Given the description of an element on the screen output the (x, y) to click on. 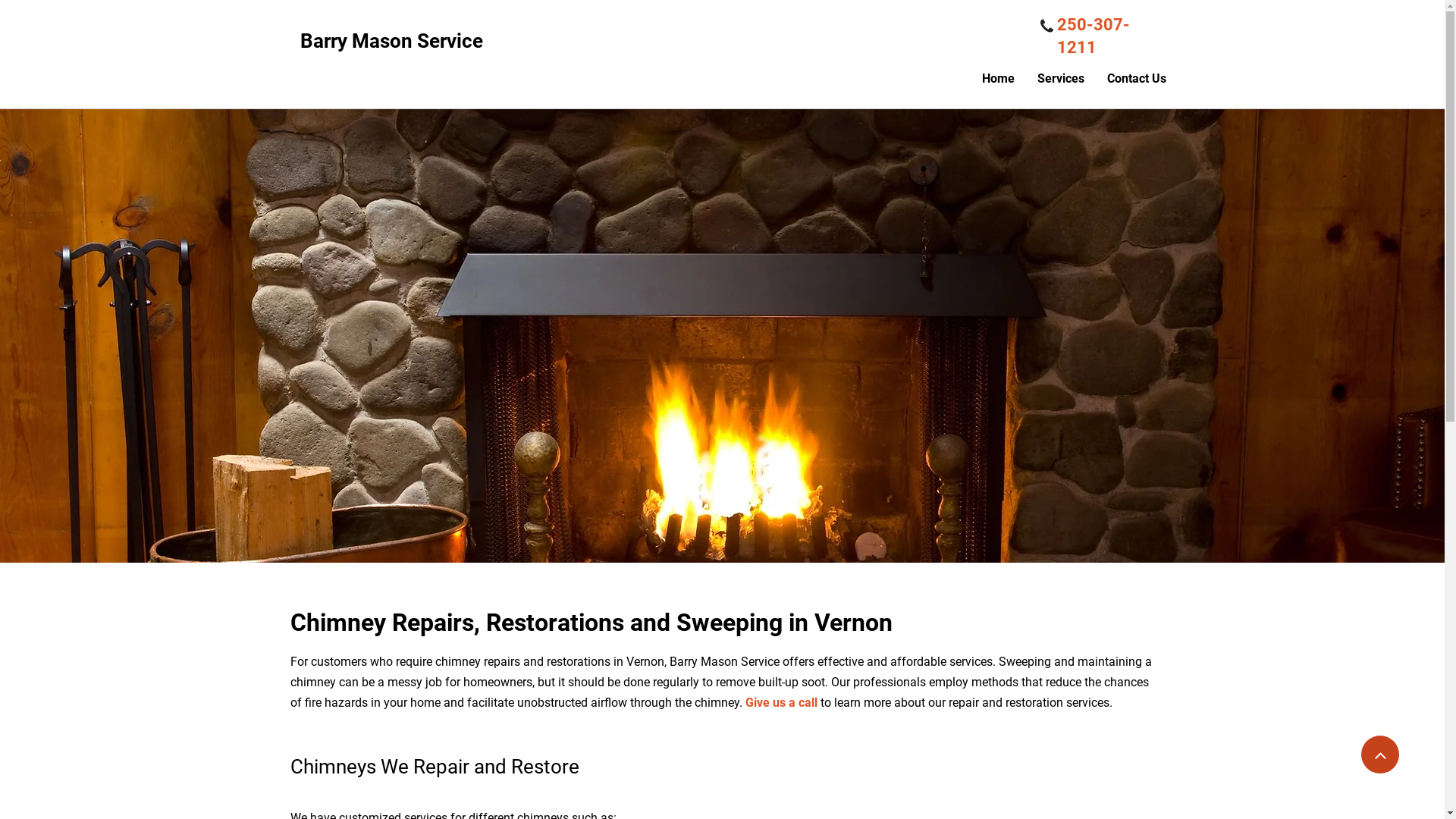
Give us a call Element type: text (780, 703)
Contact Us Element type: text (1136, 78)
Services Element type: text (1060, 78)
Home Element type: text (997, 78)
Barry Mason Service Element type: text (391, 44)
250-307-1211 Element type: text (1093, 38)
